Given the description of an element on the screen output the (x, y) to click on. 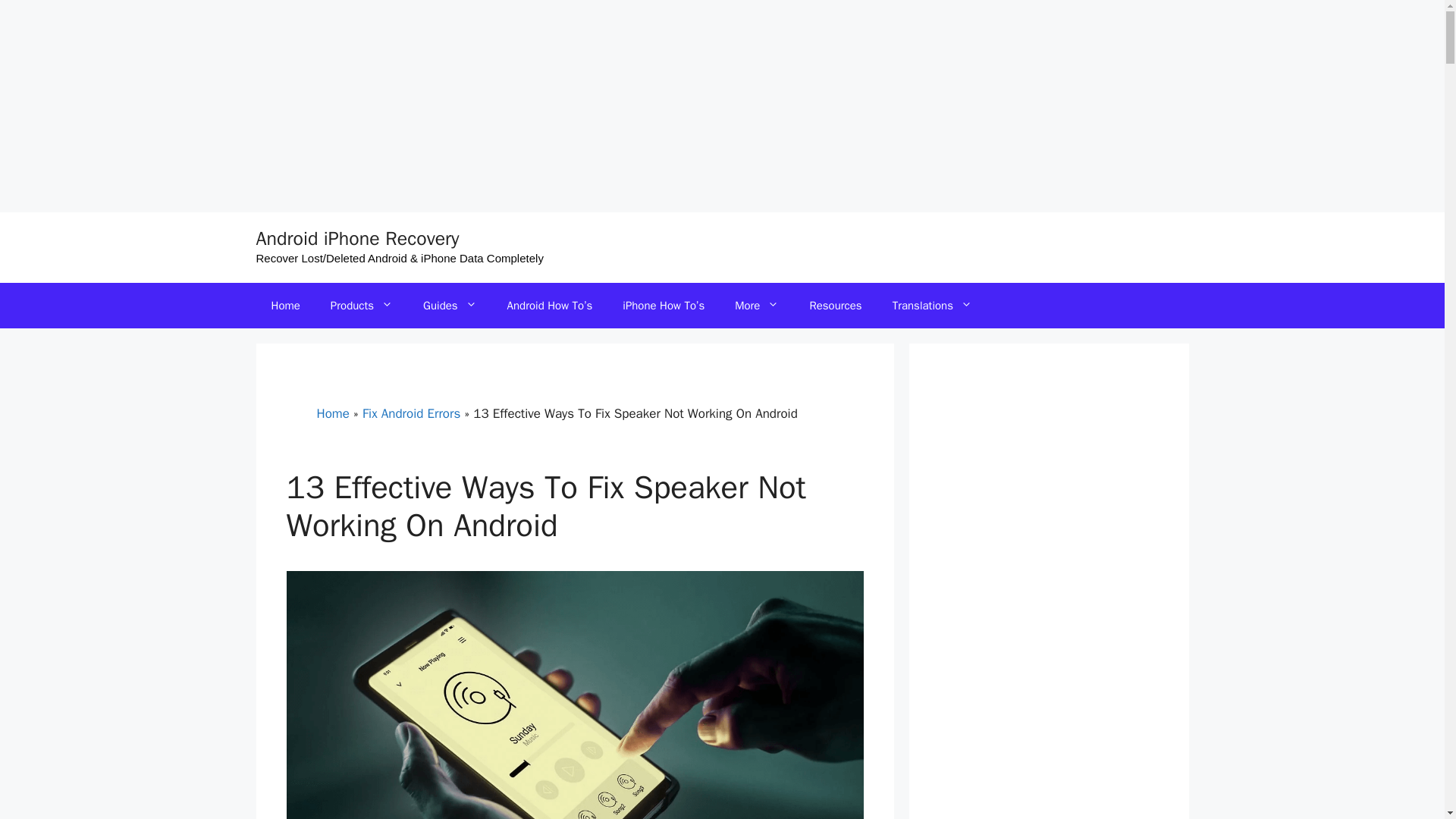
Guides (449, 304)
Translations (932, 304)
Home (333, 412)
Android iPhone Recovery (358, 238)
More (756, 304)
Resources (834, 304)
Fix Android Errors (411, 412)
Products (361, 304)
Home (285, 304)
